Given the description of an element on the screen output the (x, y) to click on. 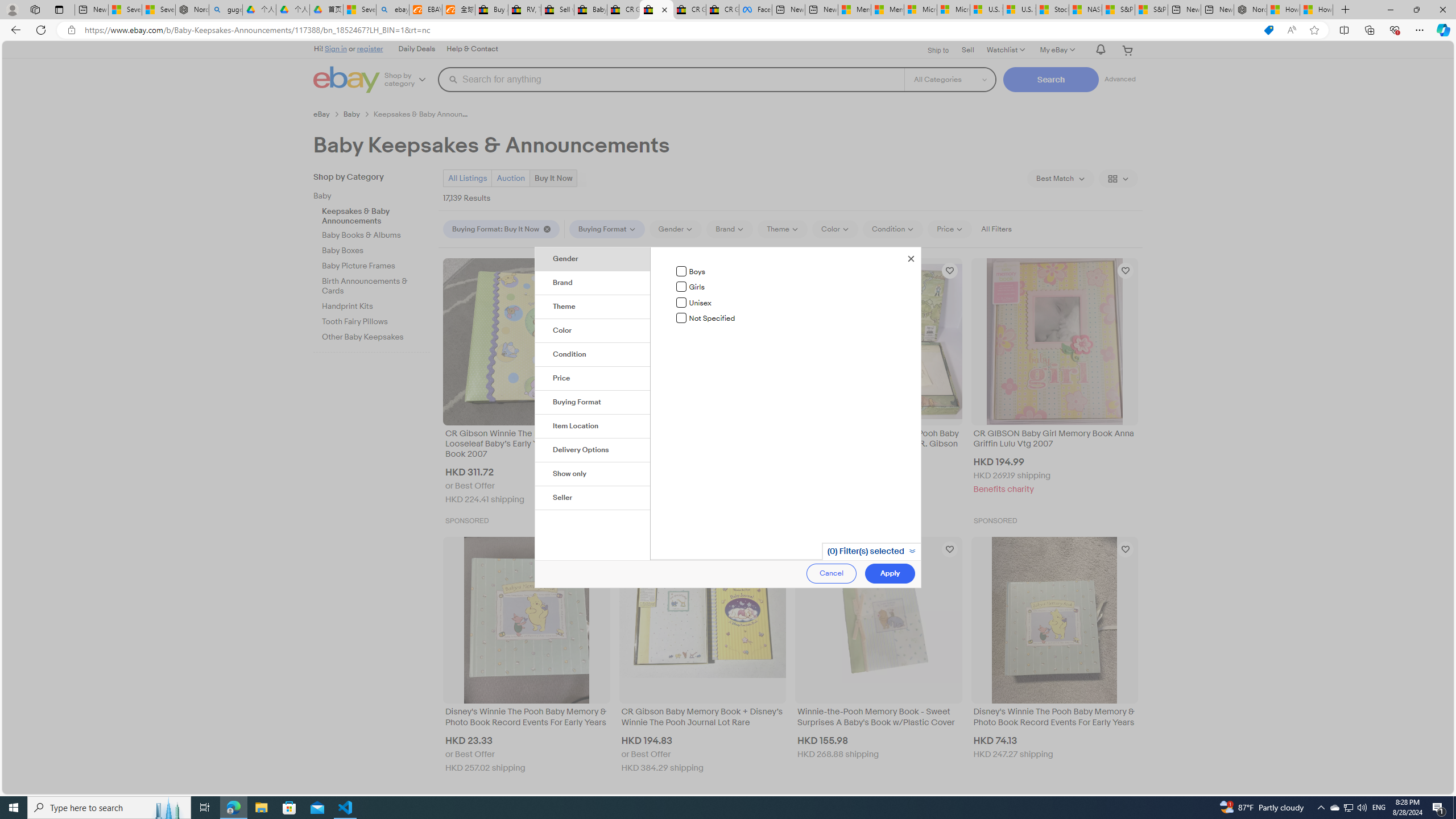
Item Location (592, 426)
How to Use a Monitor With Your Closed Laptop (1316, 9)
Brand (592, 282)
guge yunpan - Search (225, 9)
Buy Auto Parts & Accessories | eBay (491, 9)
RV, Trailer & Camper Steps & Ladders for sale | eBay (524, 9)
Facebook (755, 9)
ebay - Search (392, 9)
Sell worldwide with eBay (557, 9)
Settings and more (Alt+F) (1419, 29)
Price (592, 378)
